Given the description of an element on the screen output the (x, y) to click on. 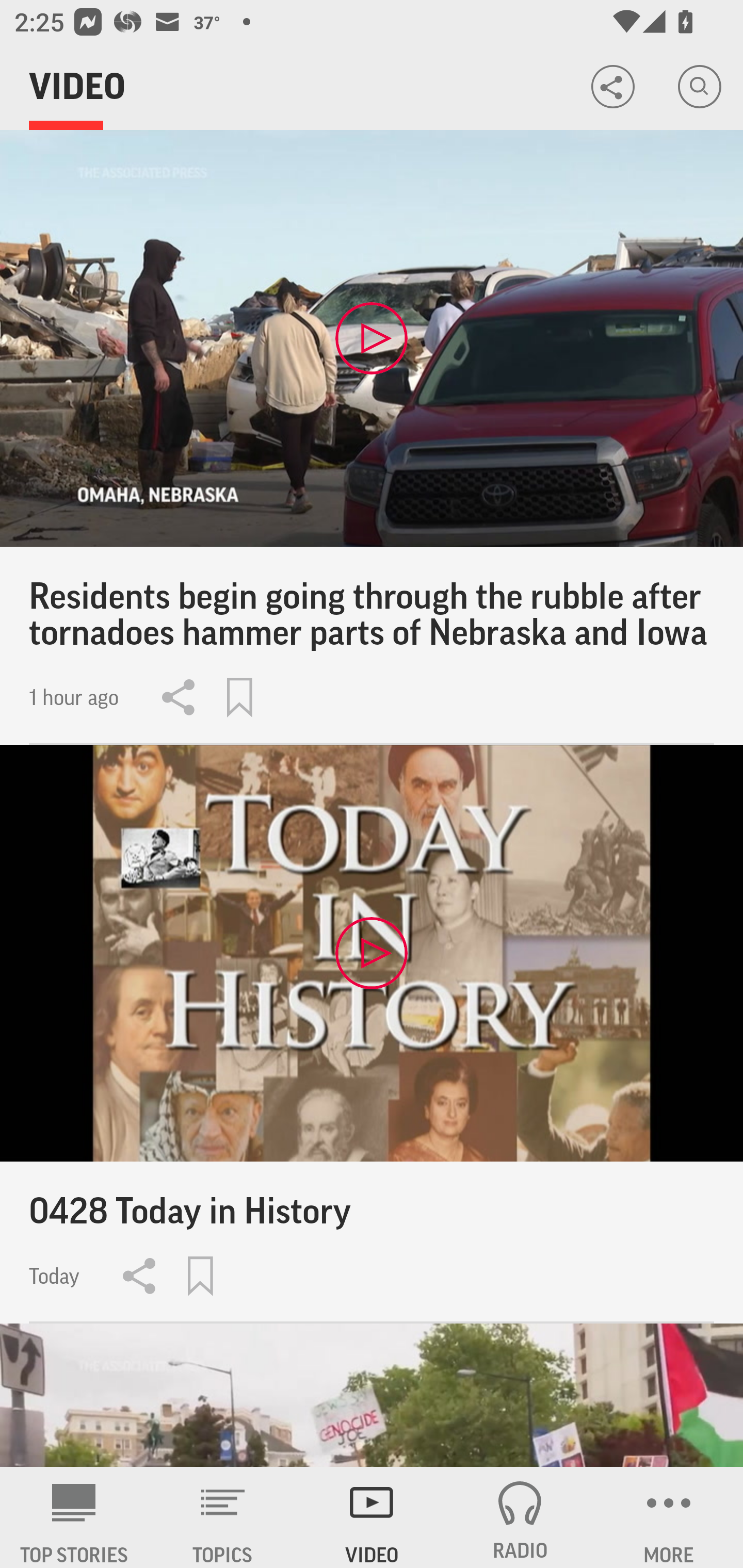
0428 Today in History Today (371, 1033)
AP News TOP STORIES (74, 1517)
TOPICS (222, 1517)
VIDEO (371, 1517)
RADIO (519, 1517)
MORE (668, 1517)
